Given the description of an element on the screen output the (x, y) to click on. 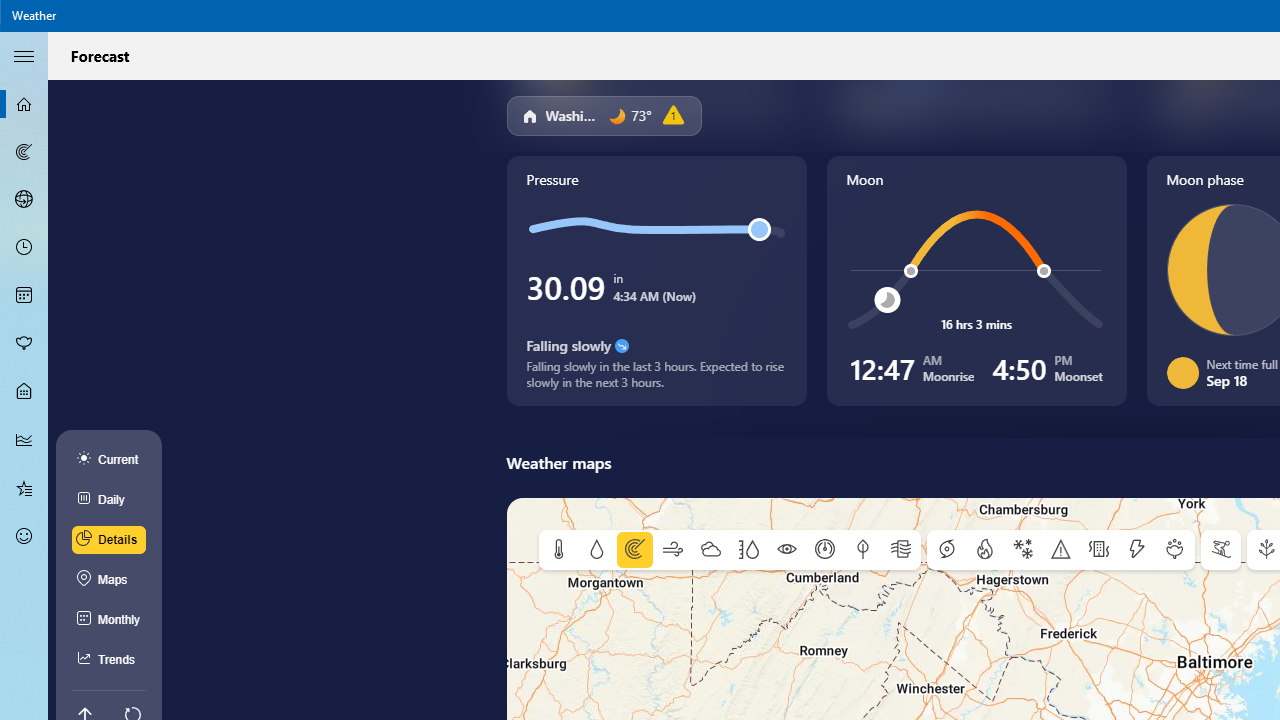
Collapse Navigation (24, 55)
Forecast - Not Selected (24, 103)
Monthly Forecast - Not Selected (24, 295)
Historical Weather - Not Selected (24, 439)
3D Maps - Not Selected (24, 199)
Life - Not Selected (24, 391)
Maps - Not Selected (24, 151)
Historical Weather - Not Selected (24, 439)
Pollen - Not Selected (24, 343)
Favorites - Not Selected (24, 487)
3D Maps - Not Selected (24, 199)
Send Feedback - Not Selected (24, 535)
Pollen - Not Selected (24, 343)
Hourly Forecast - Not Selected (24, 247)
Maps - Not Selected (24, 151)
